Given the description of an element on the screen output the (x, y) to click on. 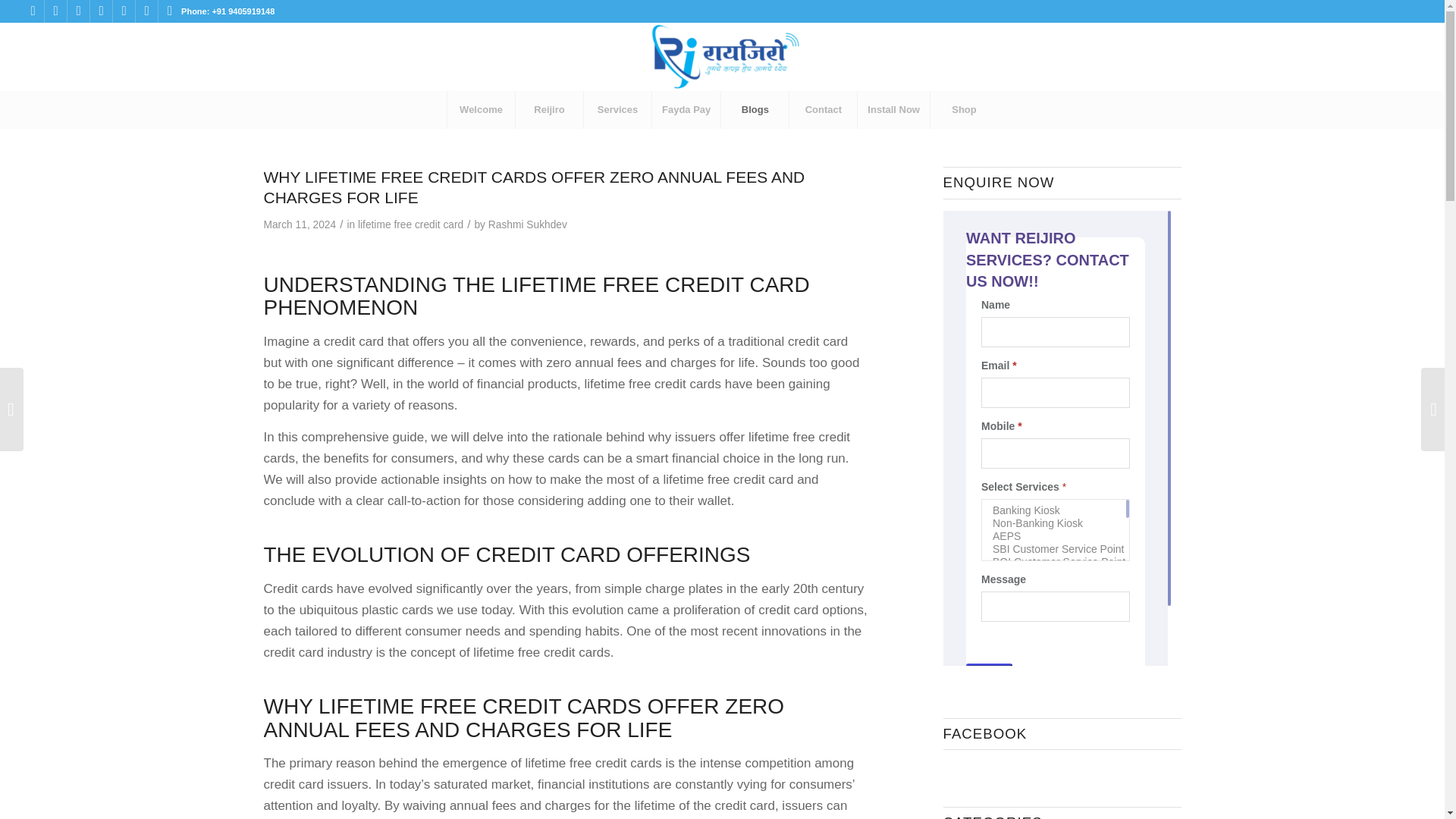
Fayda Pay (685, 109)
WhatsApp (169, 11)
Posts by Rashmi Sukhdev (527, 224)
LinkedIn (101, 11)
Instagram (55, 11)
Youtube (124, 11)
Rashmi Sukhdev (527, 224)
Twitter (77, 11)
Blogs (754, 109)
Install Now (893, 109)
